Given the description of an element on the screen output the (x, y) to click on. 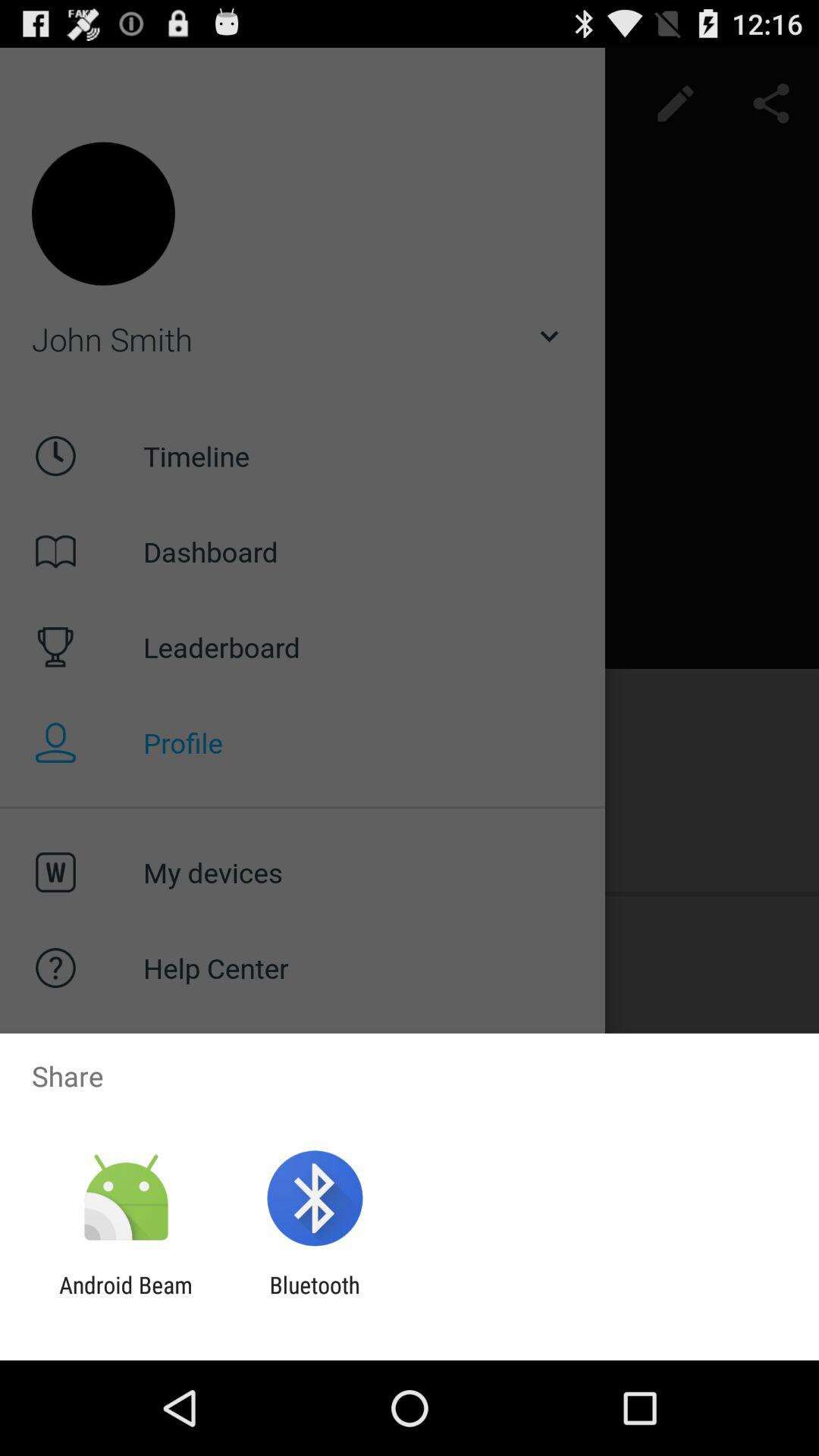
select bluetooth (314, 1298)
